Given the description of an element on the screen output the (x, y) to click on. 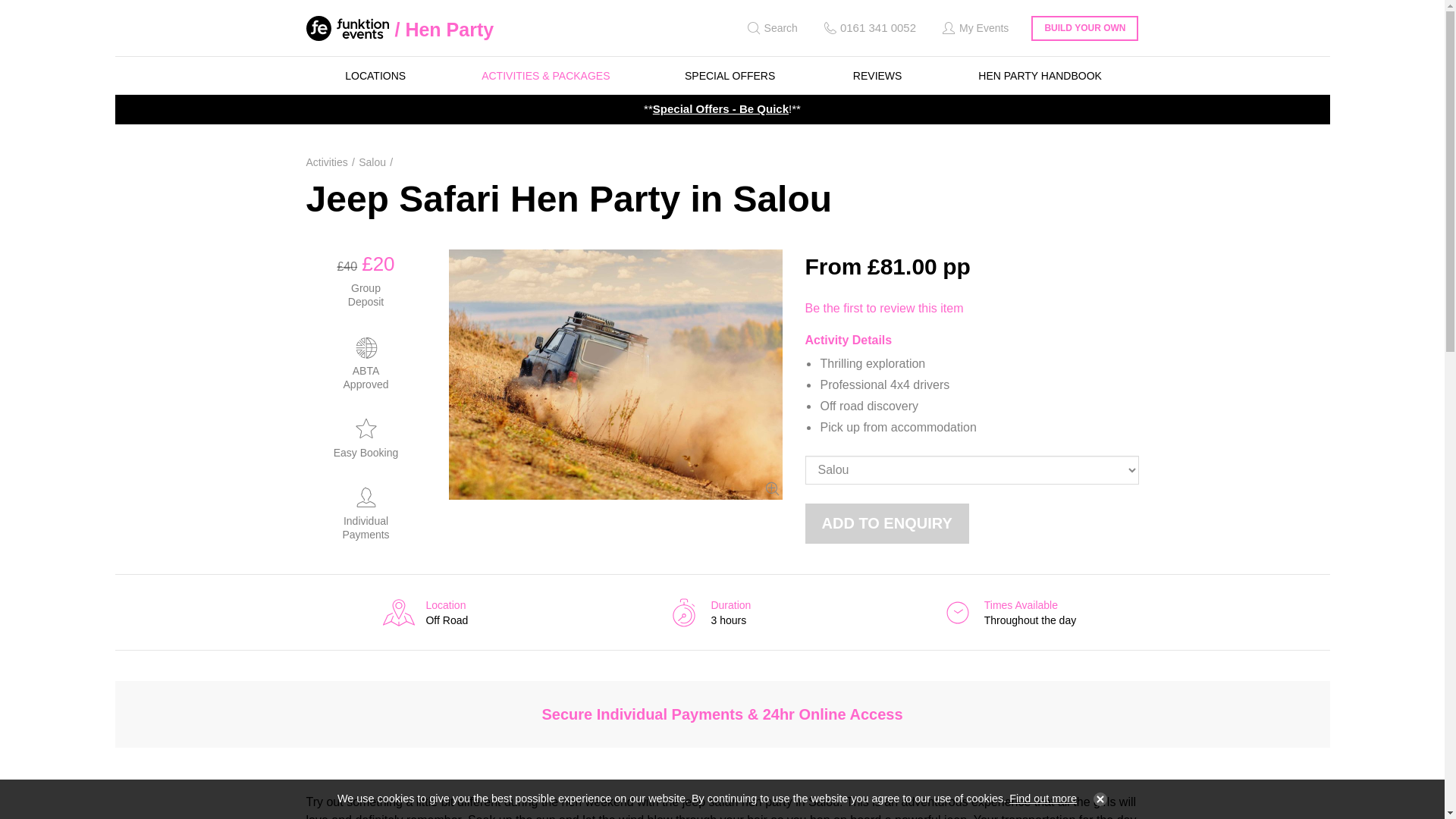
HEN PARTY HANDBOOK (1040, 75)
Hen Party (443, 29)
LOCATIONS (375, 75)
My Events (974, 28)
REVIEWS (876, 75)
Add to enquiry (887, 523)
Search (770, 28)
0161 341 0052 (868, 28)
Find event you are looking for (770, 28)
SPECIAL OFFERS (729, 75)
